Given the description of an element on the screen output the (x, y) to click on. 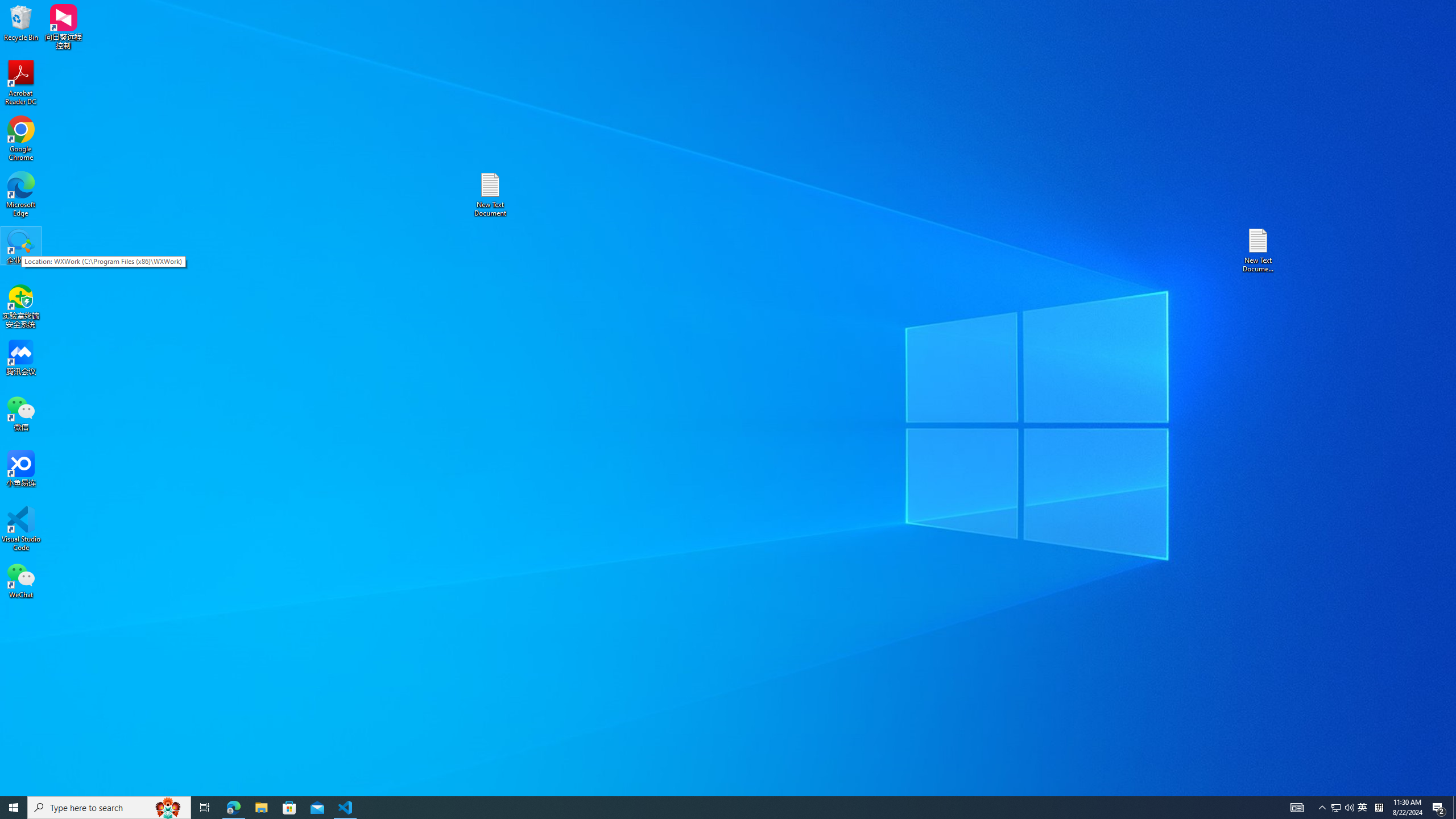
Running applications (707, 807)
Task View (204, 807)
Search highlights icon opens search home window (167, 807)
Notification Chevron (1322, 807)
User Promoted Notification Area (1342, 807)
Microsoft Edge (21, 194)
New Text Document (2) (1258, 250)
Microsoft Edge - 1 running window (233, 807)
Show desktop (1335, 807)
Type here to search (1454, 807)
Microsoft Store (108, 807)
